Given the description of an element on the screen output the (x, y) to click on. 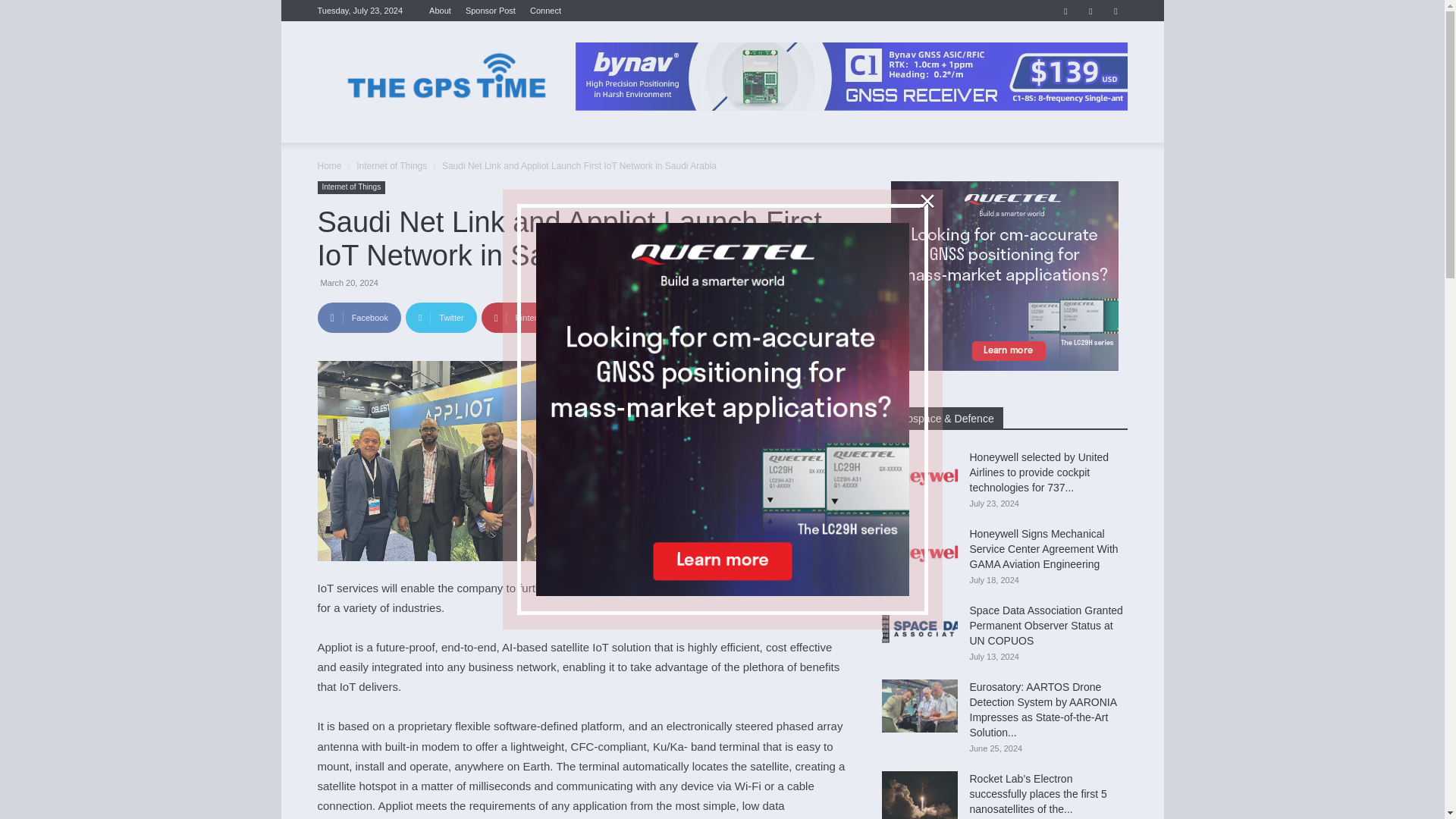
About (440, 10)
View all posts in Internet of Things (391, 165)
Twitter (441, 317)
Pinterest (520, 317)
HOME (341, 129)
Saudi Net Link Partners with IoT Innovator Appliot (430, 461)
WhatsApp (609, 317)
Linkedin (695, 317)
Twitter (1114, 10)
Facebook (1065, 10)
More (755, 317)
Linkedin (1090, 10)
Facebook (358, 317)
Sponsor Post (490, 10)
Connect (544, 10)
